Given the description of an element on the screen output the (x, y) to click on. 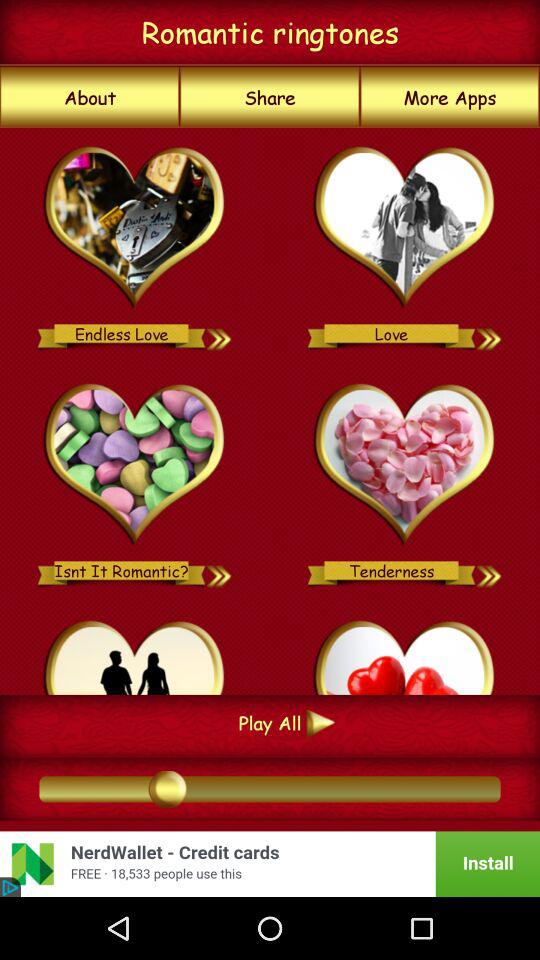
select ringtone (490, 570)
